Given the description of an element on the screen output the (x, y) to click on. 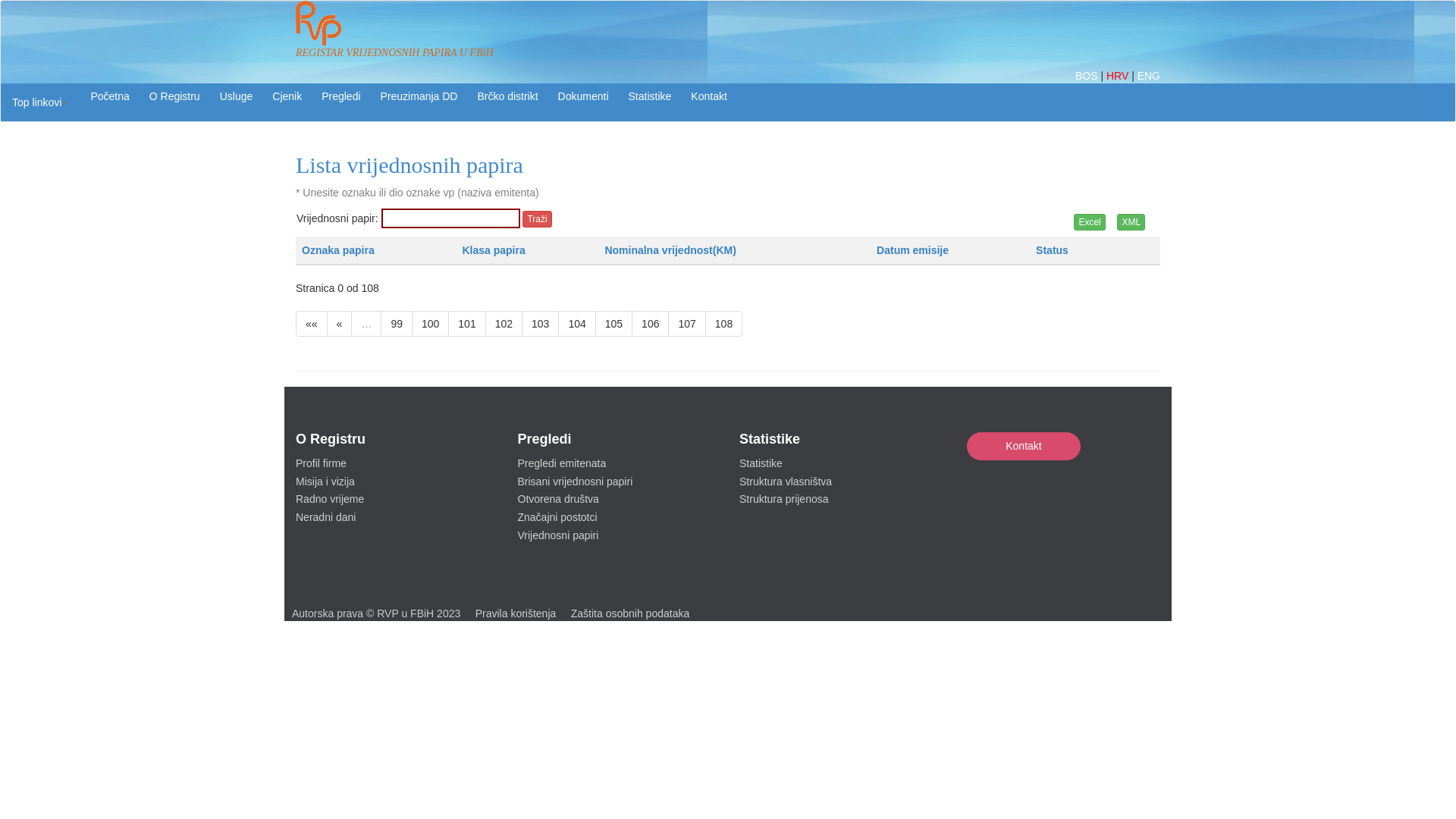
Brisani vrijednosni papiri Element type: text (574, 481)
Usluge Element type: text (236, 96)
99 Element type: text (396, 323)
Klasa papira Element type: text (492, 250)
Pregledi Element type: text (340, 96)
XML Element type: text (1131, 221)
105 Element type: text (613, 323)
Neradni dani Element type: text (325, 517)
HRV Element type: text (1118, 75)
106 Element type: text (649, 323)
Kontakt Element type: text (1023, 446)
Radno vrijeme Element type: text (329, 498)
104 Element type: text (576, 323)
Excel Element type: text (1088, 221)
Misija i vizija Element type: text (324, 481)
Statistike Element type: text (760, 463)
Kontakt Element type: text (708, 96)
Statistike Element type: text (649, 96)
Dokumenti Element type: text (583, 96)
Cjenik Element type: text (286, 96)
O Registru Element type: text (174, 96)
rvp1 Element type: hover (318, 21)
Vrijednosni papiri Element type: text (557, 535)
Nominalna vrijednost(KM) Element type: text (669, 250)
100 Element type: text (429, 323)
Preuzimanja DD Element type: text (418, 96)
107 Element type: text (686, 323)
108 Element type: text (723, 323)
Profil firme Element type: text (320, 463)
ENG Element type: text (1148, 75)
102 Element type: text (503, 323)
Pregledi emitenata Element type: text (561, 463)
Top linkovi Element type: text (40, 102)
Status Element type: text (1051, 250)
103 Element type: text (539, 323)
101 Element type: text (466, 323)
BOS Element type: text (1087, 75)
Datum emisije Element type: text (912, 250)
Oznaka papira Element type: text (337, 250)
Struktura prijenosa Element type: text (783, 498)
